Given the description of an element on the screen output the (x, y) to click on. 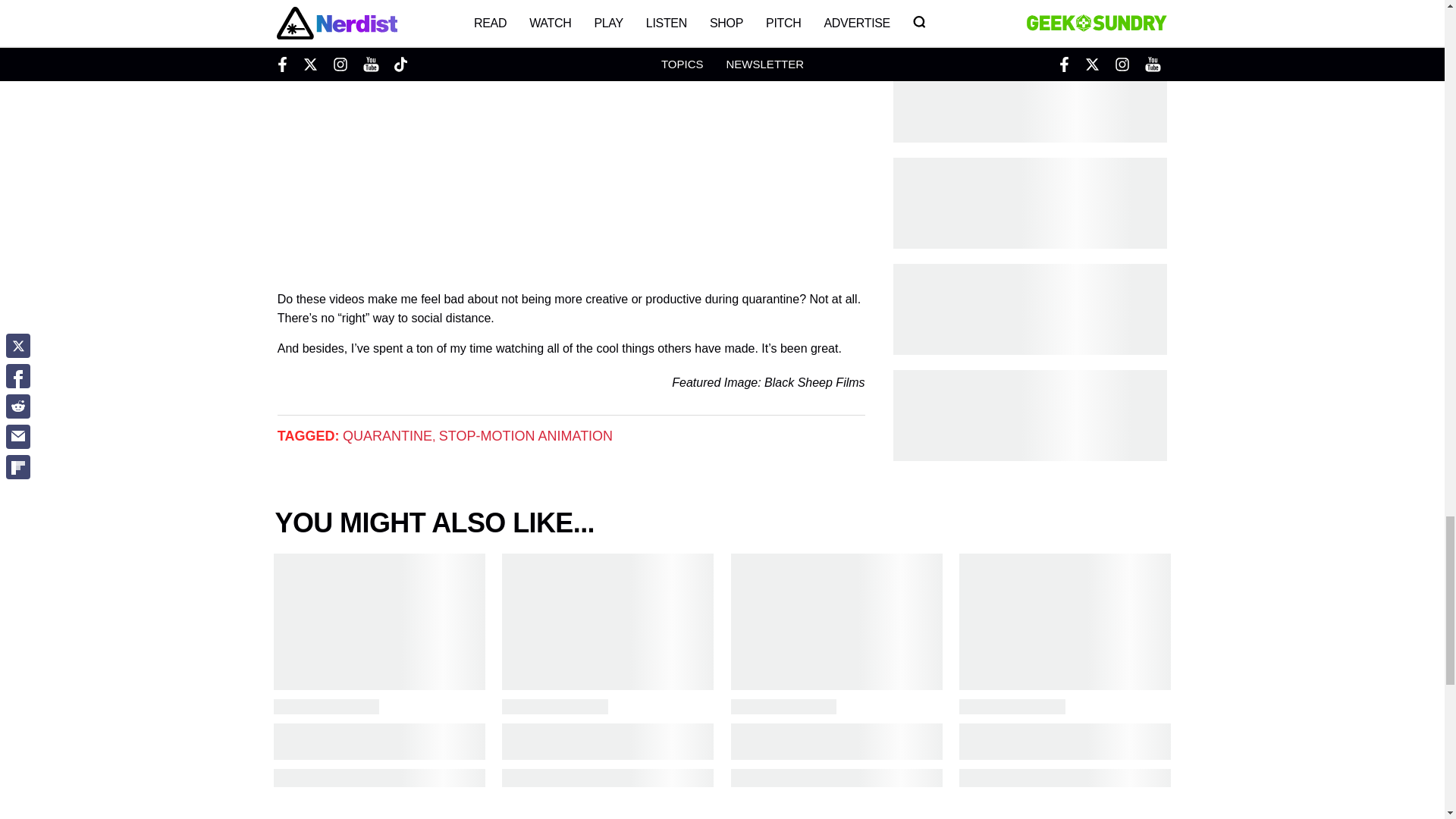
STOP-MOTION ANIMATION (525, 435)
QUARANTINE (387, 435)
